Given the description of an element on the screen output the (x, y) to click on. 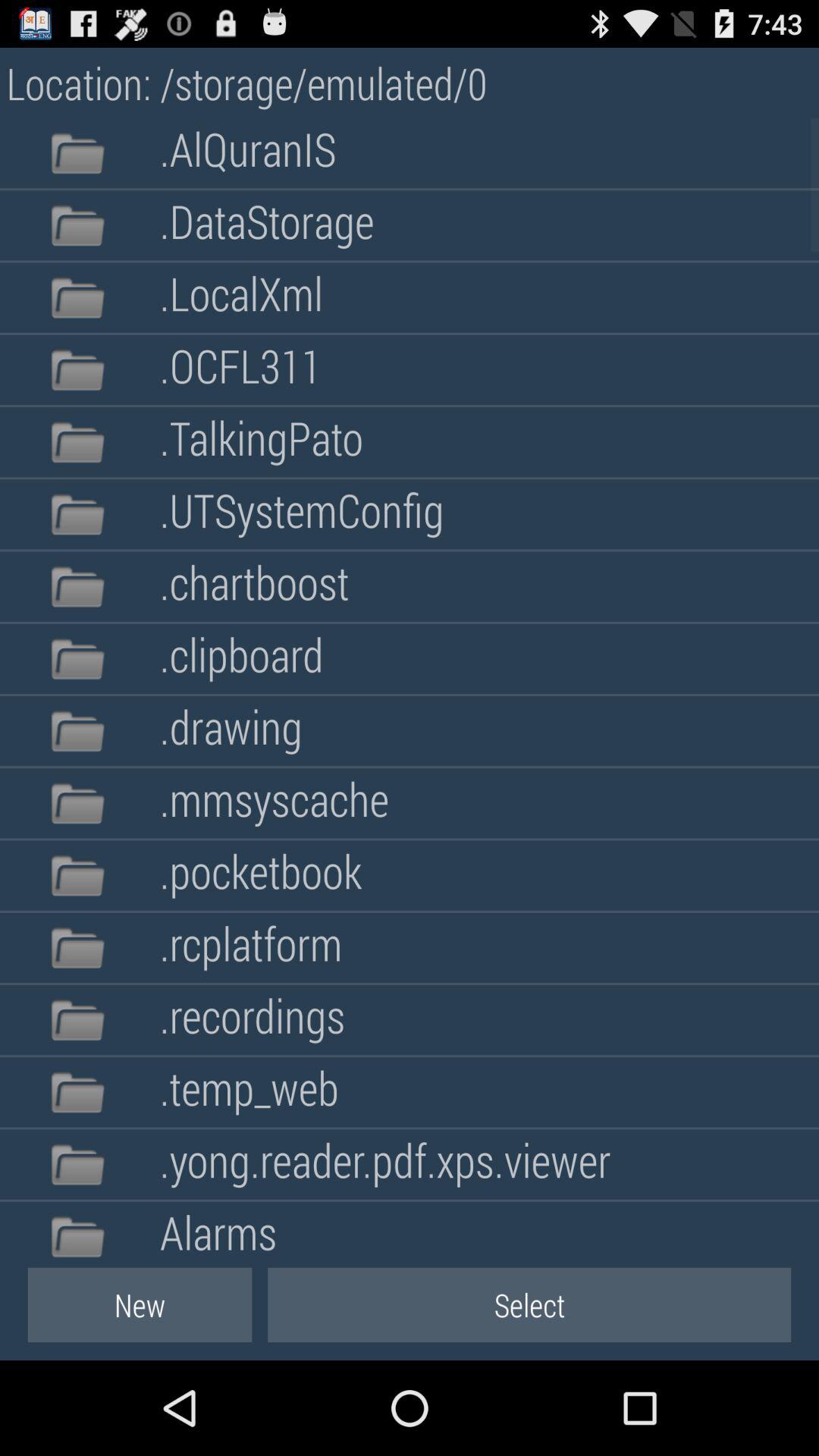
turn on item next to new item (529, 1304)
